Given the description of an element on the screen output the (x, y) to click on. 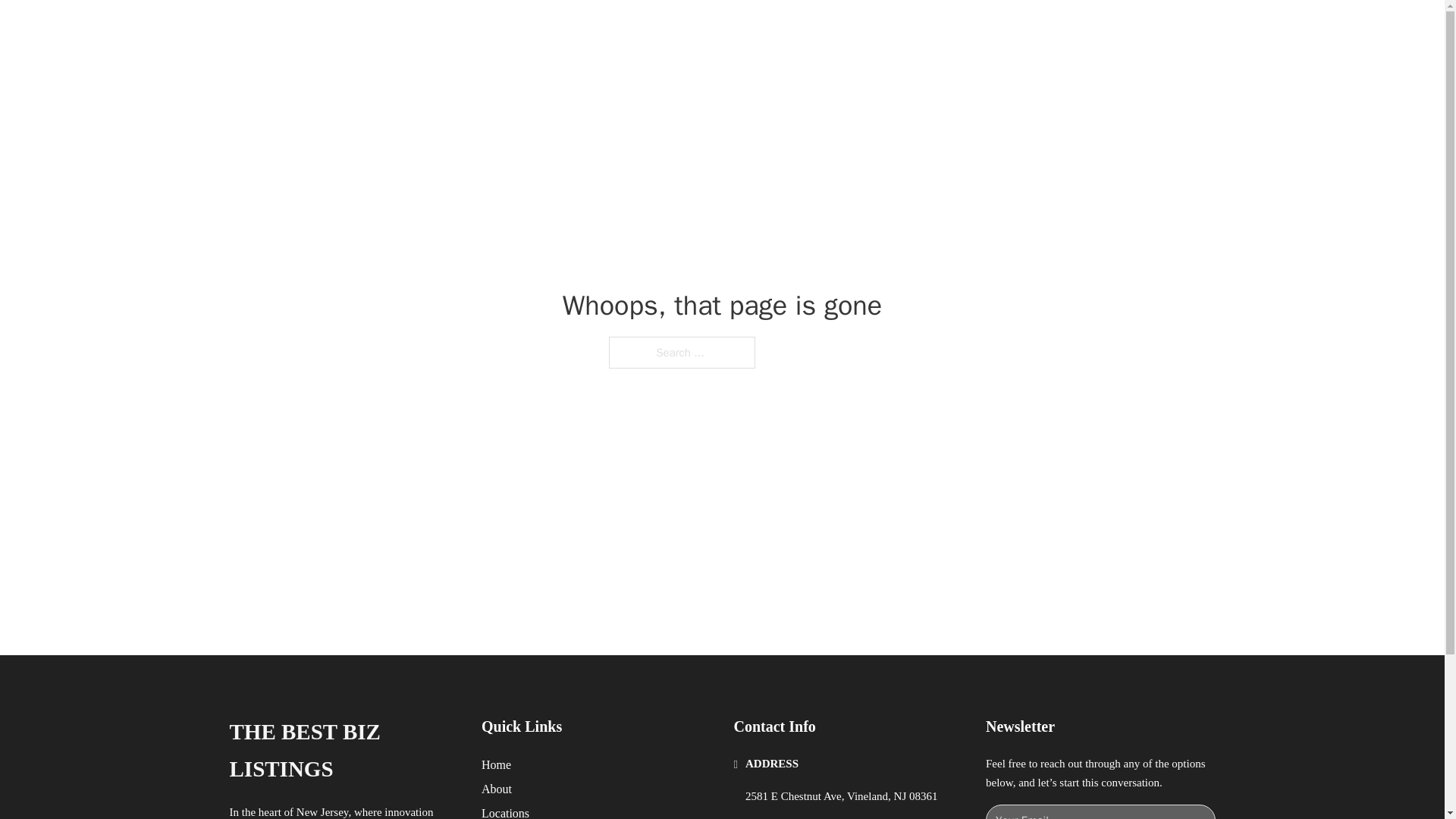
About (496, 788)
LOCATIONS (990, 29)
Locations (505, 811)
THE BEST BIZ LISTINGS (343, 750)
HOME (919, 29)
THE BEST BIZ LISTINGS (426, 28)
Home (496, 764)
